Given the description of an element on the screen output the (x, y) to click on. 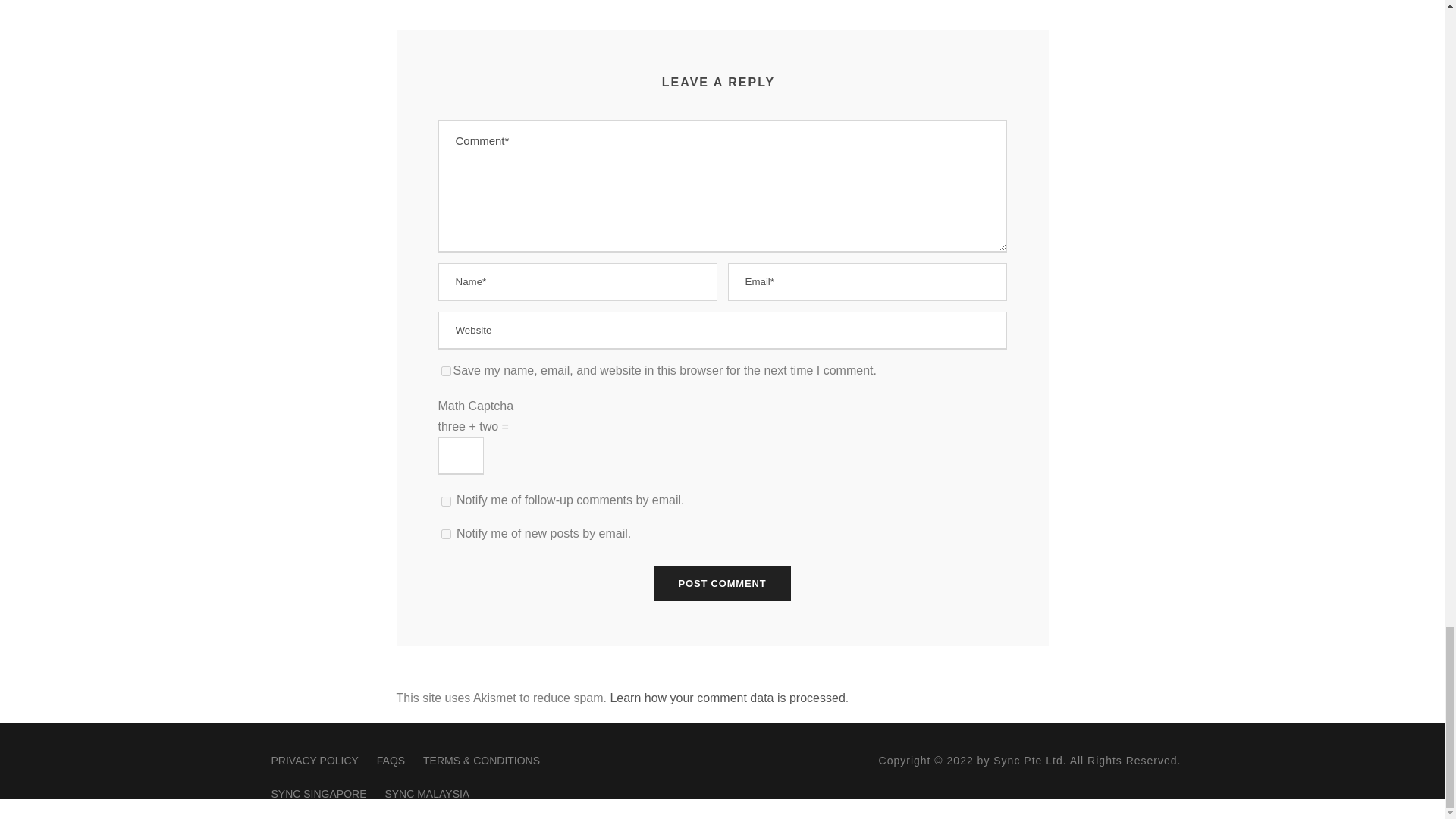
subscribe (446, 533)
subscribe (446, 501)
Post Comment (722, 583)
yes (446, 370)
